Given the description of an element on the screen output the (x, y) to click on. 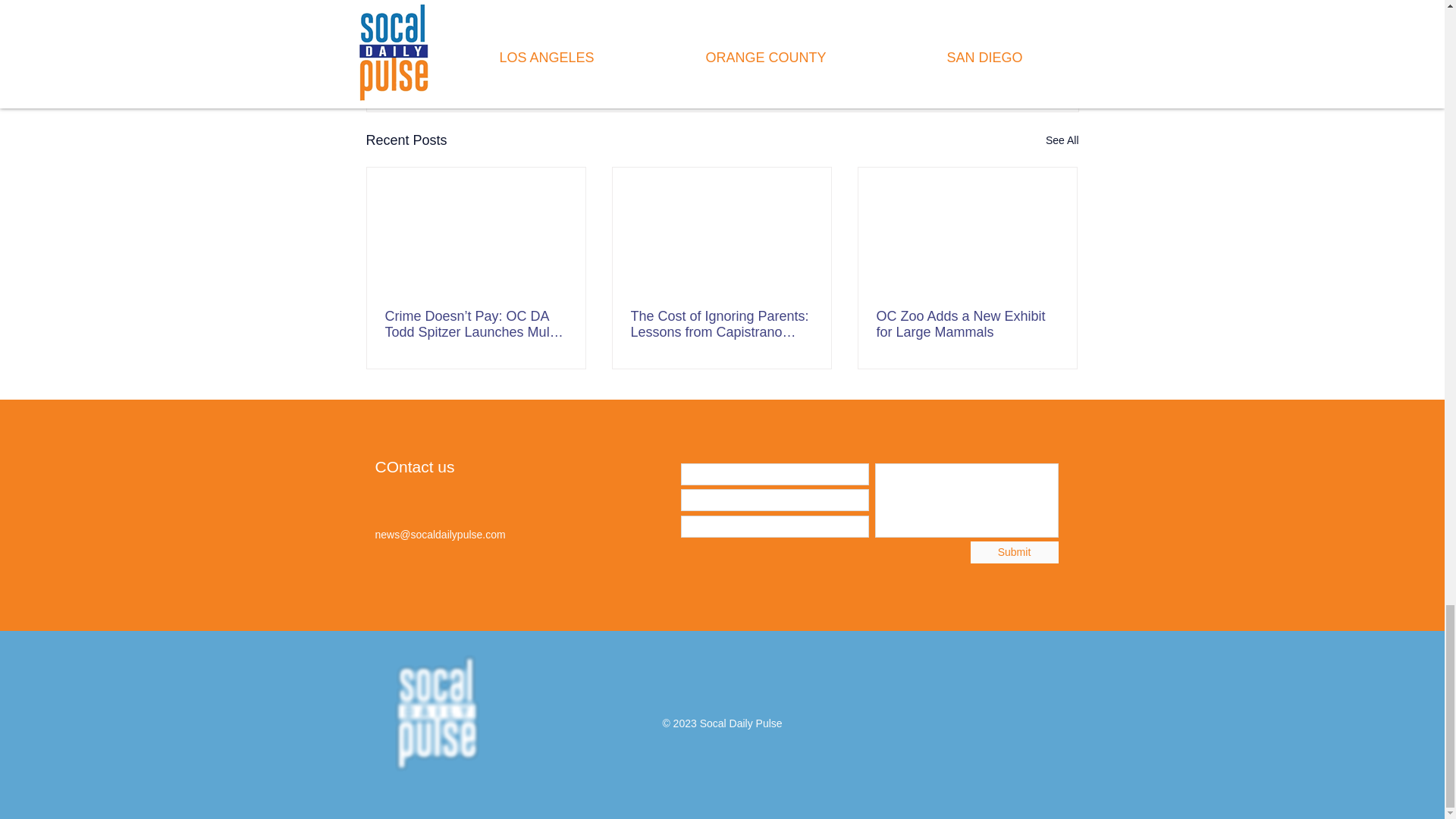
See All (1061, 140)
OC Zoo Adds a New Exhibit for Large Mammals (967, 324)
Submit (1014, 552)
